Given the description of an element on the screen output the (x, y) to click on. 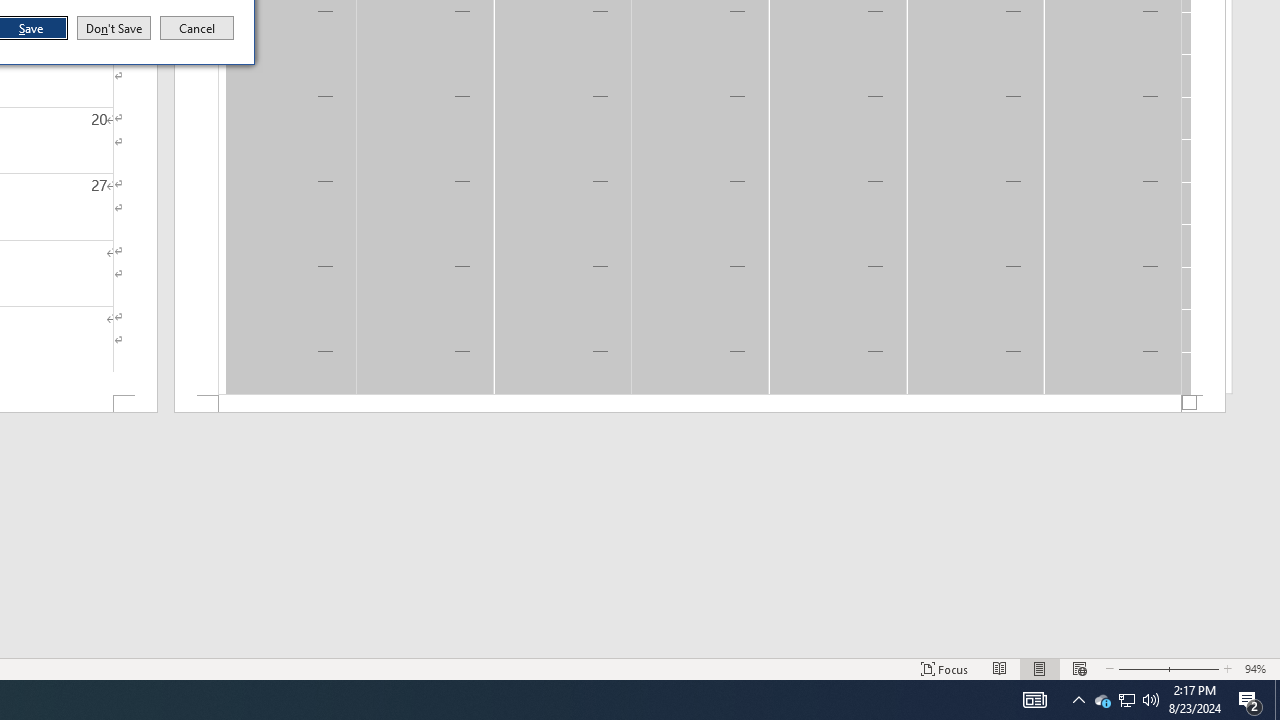
Q2790: 100% (1151, 699)
Don't Save (113, 27)
Show desktop (1277, 699)
Cancel (197, 27)
AutomationID: 4105 (1102, 699)
User Promoted Notification Area (1034, 699)
